Given the description of an element on the screen output the (x, y) to click on. 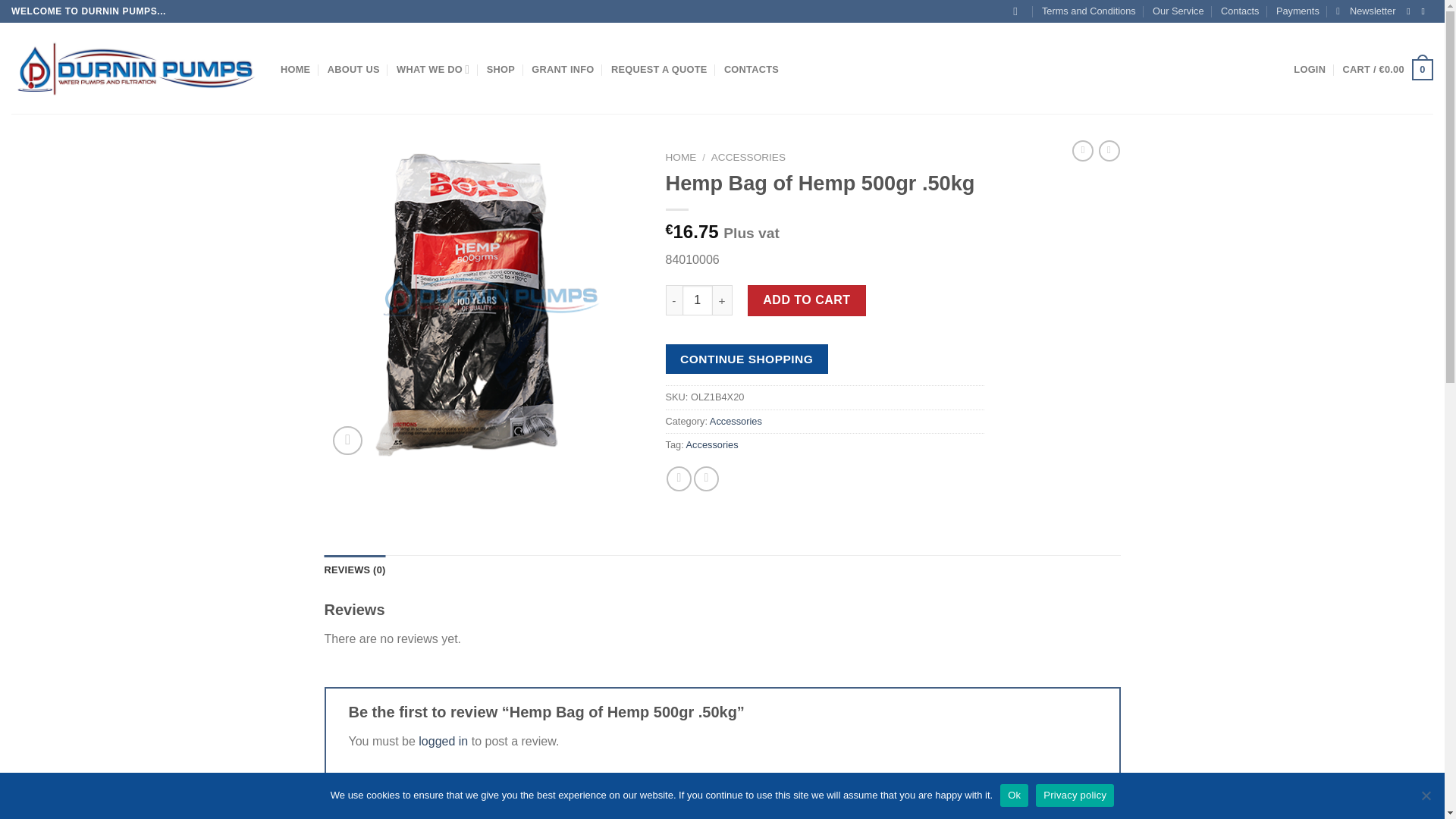
Email to a Friend (706, 478)
CONTACTS (750, 69)
Hemp-Bag-500gr (483, 303)
Follow on Facebook (1410, 10)
Share on Facebook (678, 478)
Sign up for Newsletter (1365, 11)
Send us an email (1425, 10)
Cart (1387, 69)
LOGIN (1309, 69)
- (673, 300)
Our Service (1178, 11)
ADD TO CART (807, 300)
Terms and Conditions (1088, 11)
WHAT WE DO (432, 69)
